Given the description of an element on the screen output the (x, y) to click on. 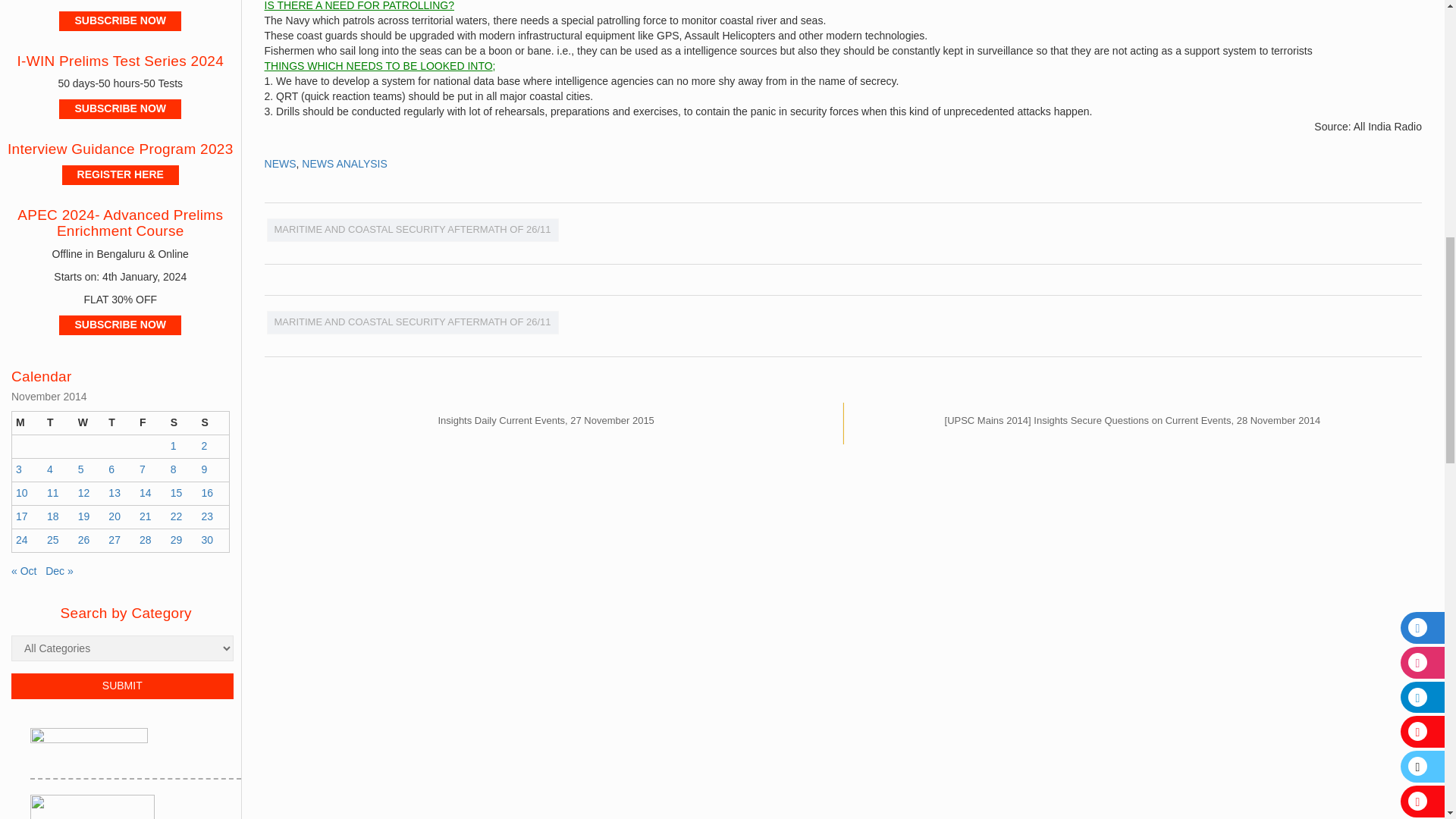
Monday (27, 422)
Saturday (182, 422)
Friday (151, 422)
Submit (121, 686)
Thursday (119, 422)
Tuesday (58, 422)
Sunday (212, 422)
Wednesday (89, 422)
